Given the description of an element on the screen output the (x, y) to click on. 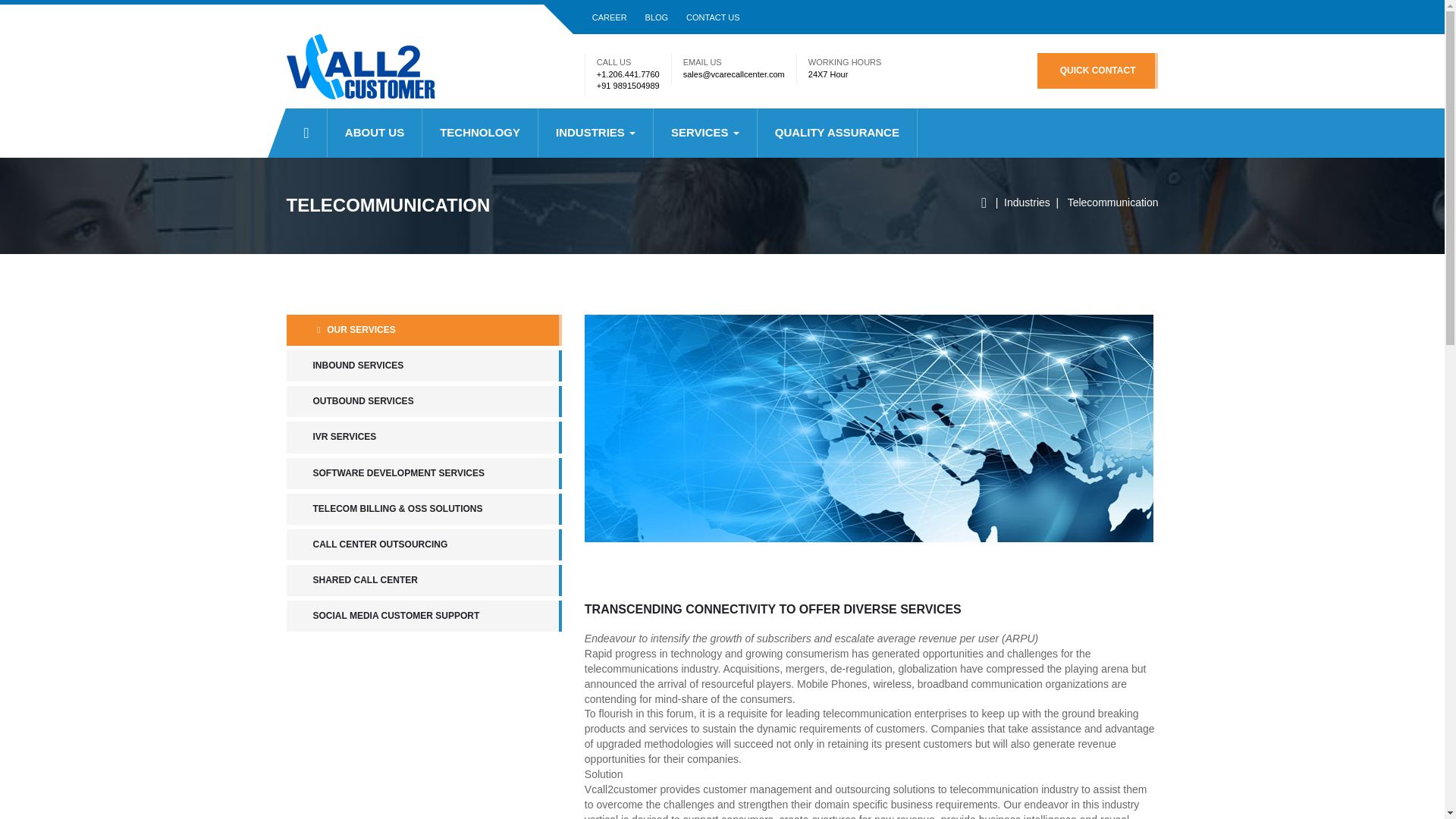
QUICK CONTACT (1097, 70)
Telecommunication (1112, 202)
CONTACT US (712, 16)
Vcall2customer (378, 69)
SERVICES (705, 132)
BLOG (656, 16)
TELECOMMUNICATION (388, 207)
INBOUND SERVICES (424, 365)
CAREER (609, 16)
INDUSTRIES (595, 132)
OUR SERVICES (424, 329)
ABOUT US (374, 132)
QUALITY ASSURANCE (837, 132)
TECHNOLOGY (479, 132)
